Given the description of an element on the screen output the (x, y) to click on. 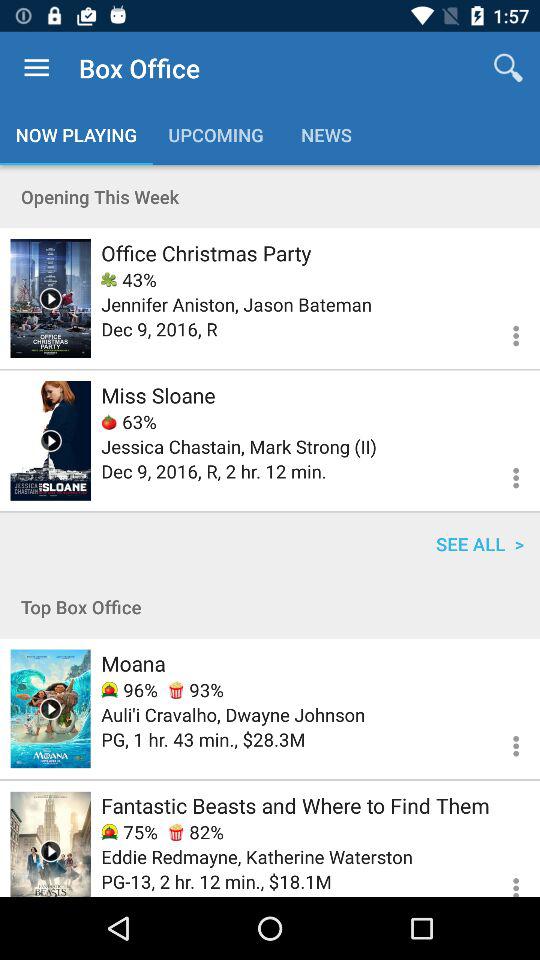
show more options (503, 878)
